Given the description of an element on the screen output the (x, y) to click on. 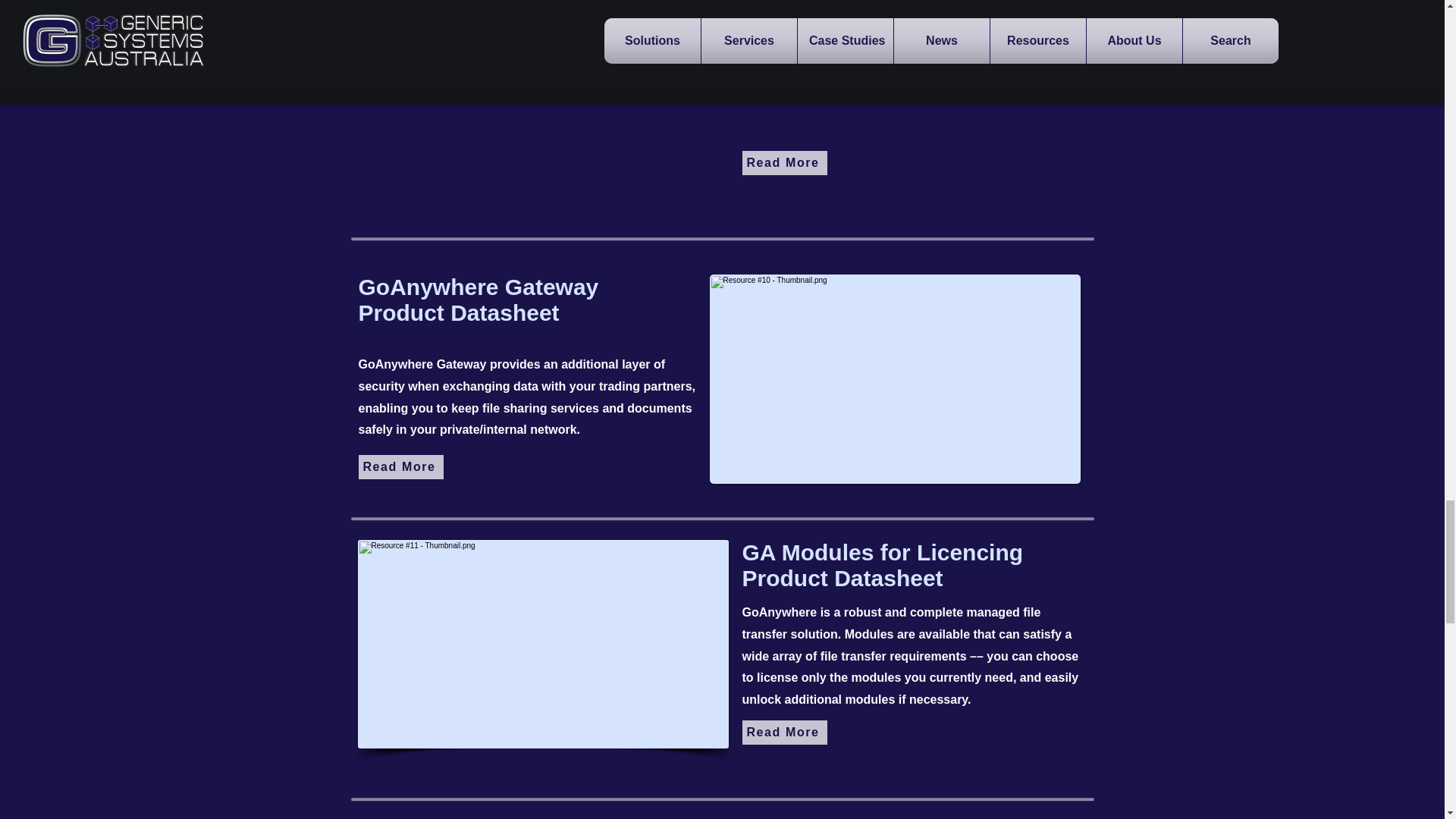
Read More (784, 162)
Read More (784, 732)
Read More (400, 467)
